Given the description of an element on the screen output the (x, y) to click on. 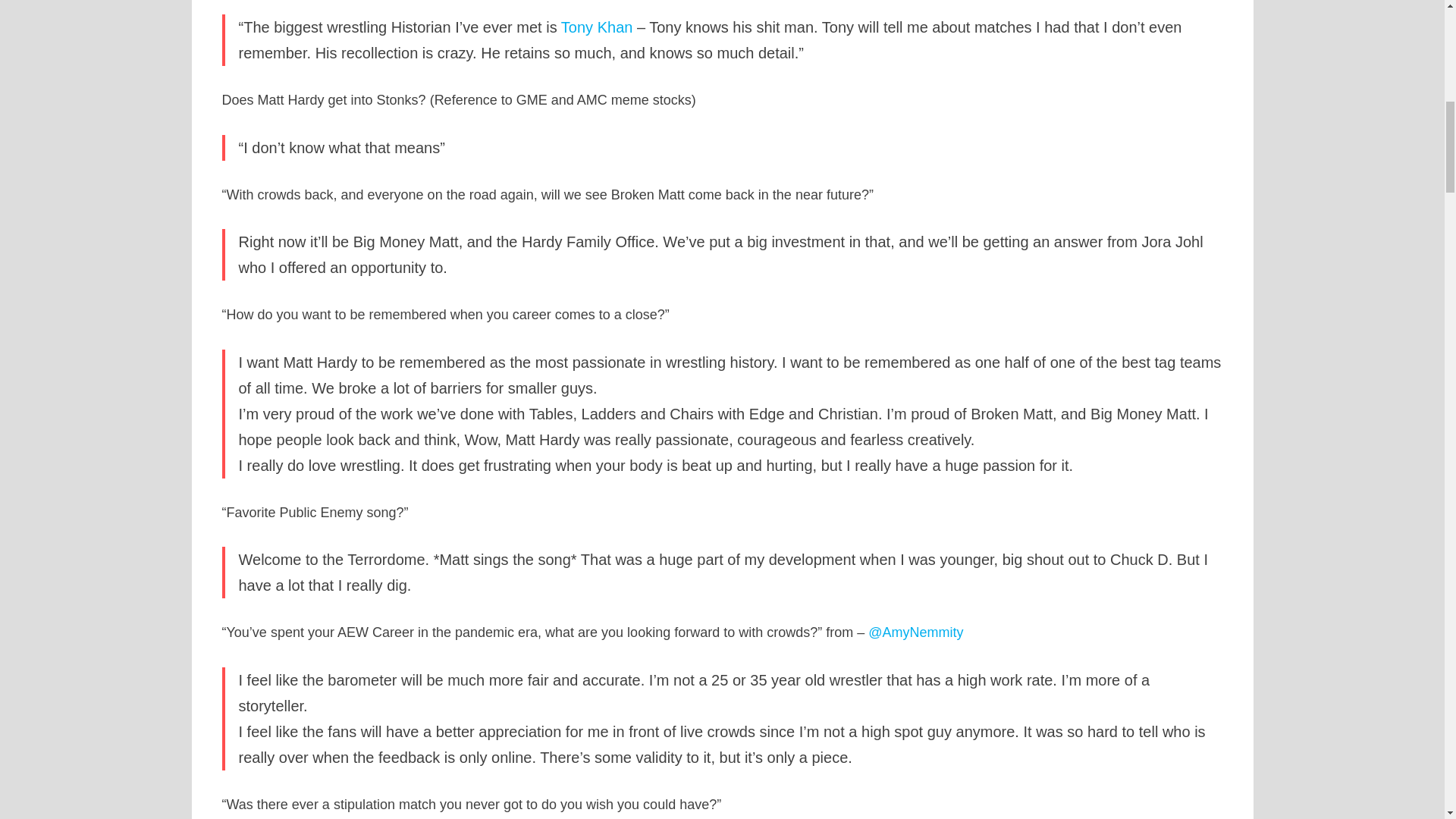
Tony Khan (596, 27)
